Given the description of an element on the screen output the (x, y) to click on. 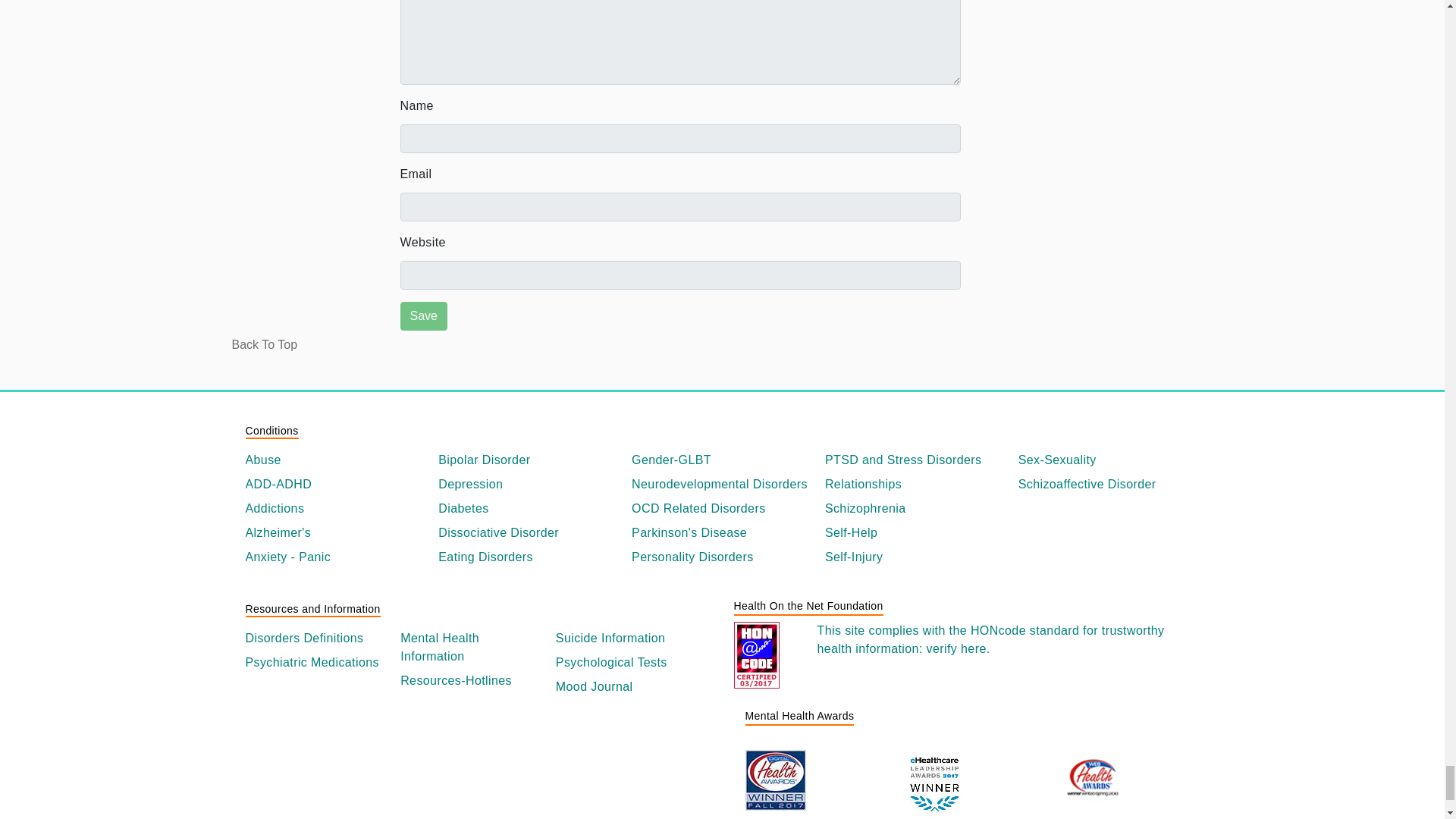
Parkinson's Disease Information Articles (721, 533)
